Given the description of an element on the screen output the (x, y) to click on. 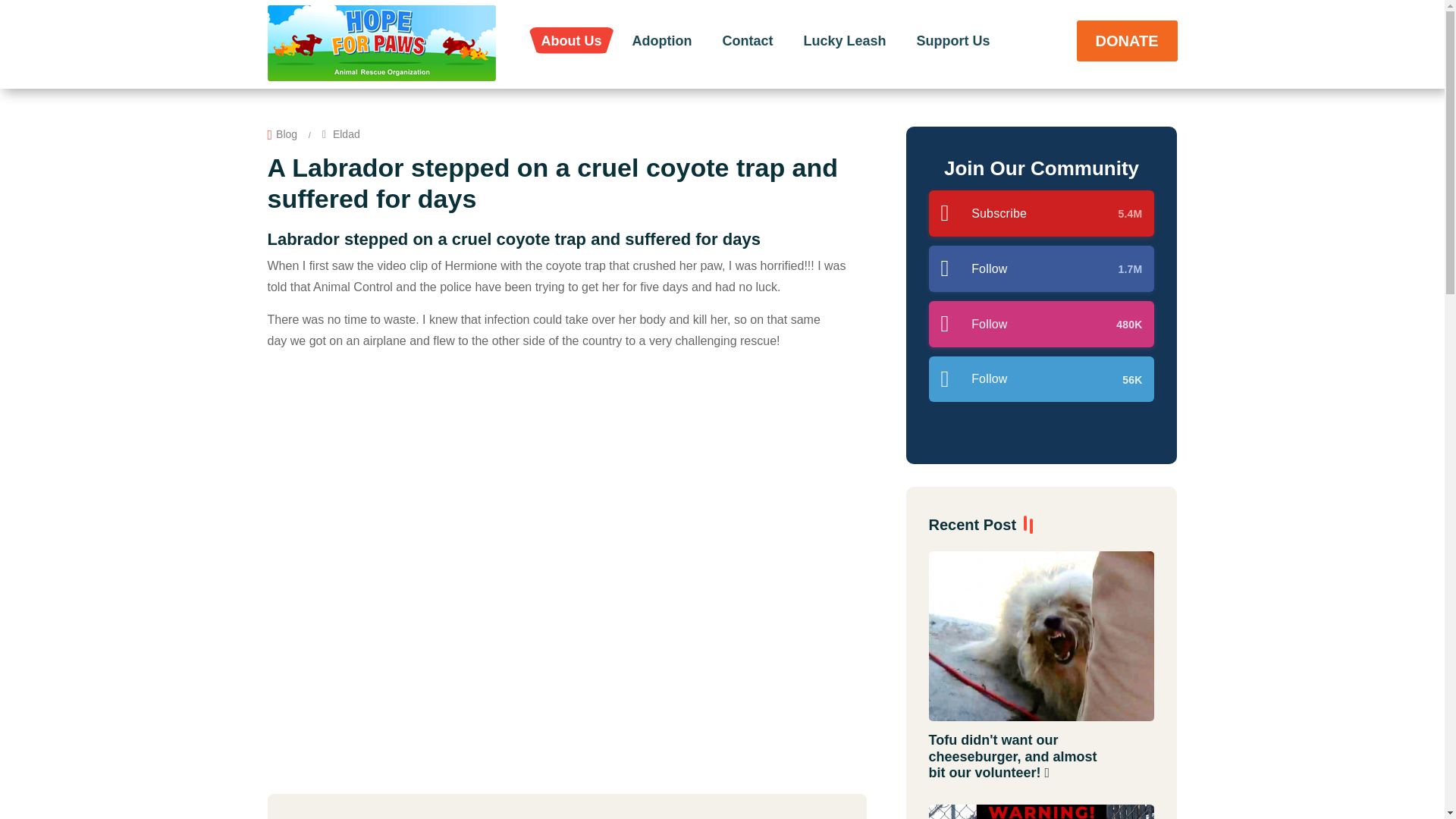
Hope For Paws Animal Rescue (380, 42)
DONATE (1127, 39)
Blog (286, 134)
About Us (571, 39)
Lucky Leash (844, 39)
Adoption (662, 39)
Contact (746, 39)
Support Us (953, 39)
